Given the description of an element on the screen output the (x, y) to click on. 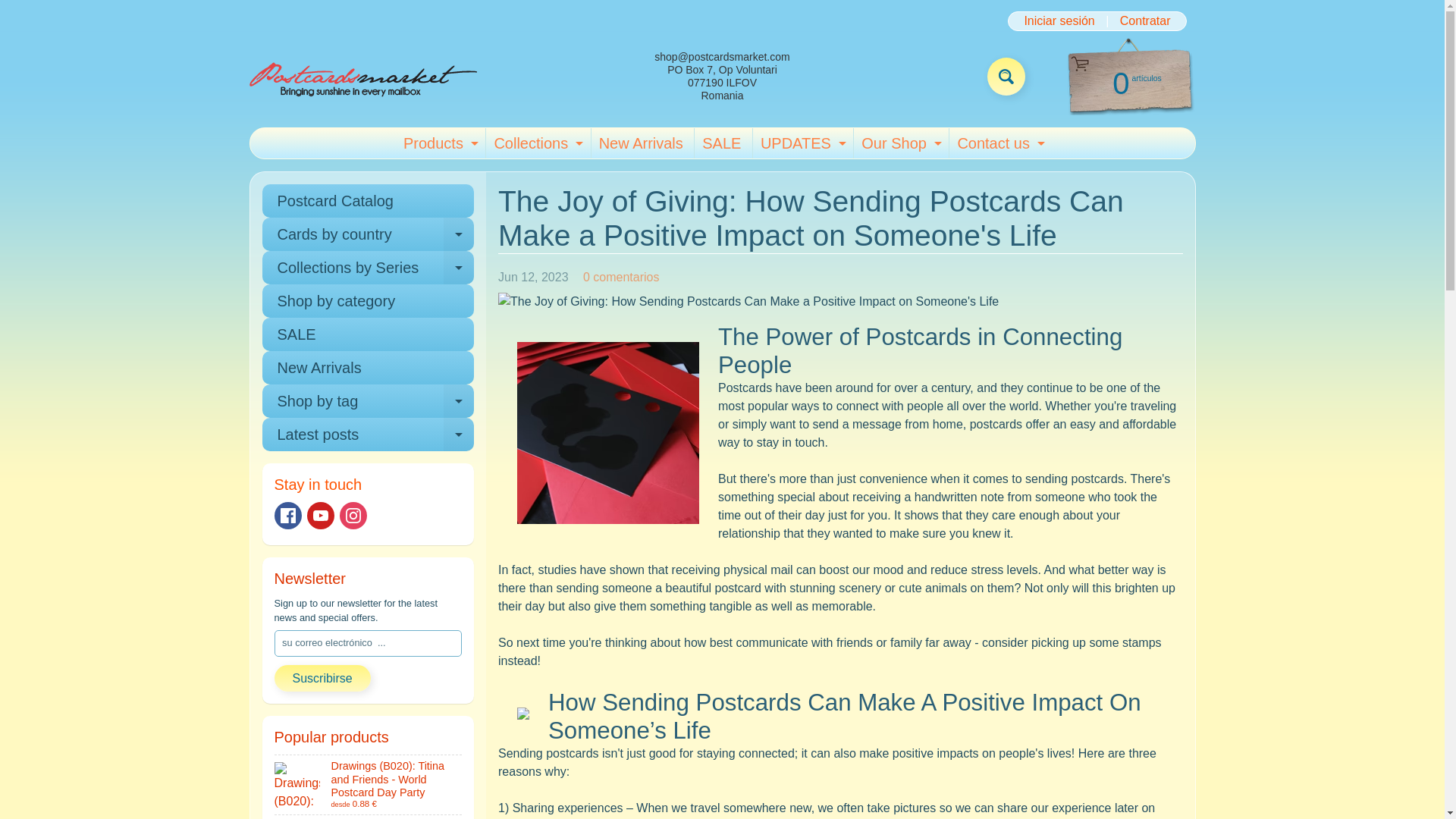
Instagram (352, 515)
Postcards Market (362, 76)
Ir directamente al contenido (22, 8)
Facebook (801, 142)
Youtube (898, 142)
Buscar (288, 515)
Buscar (438, 142)
